Given the description of an element on the screen output the (x, y) to click on. 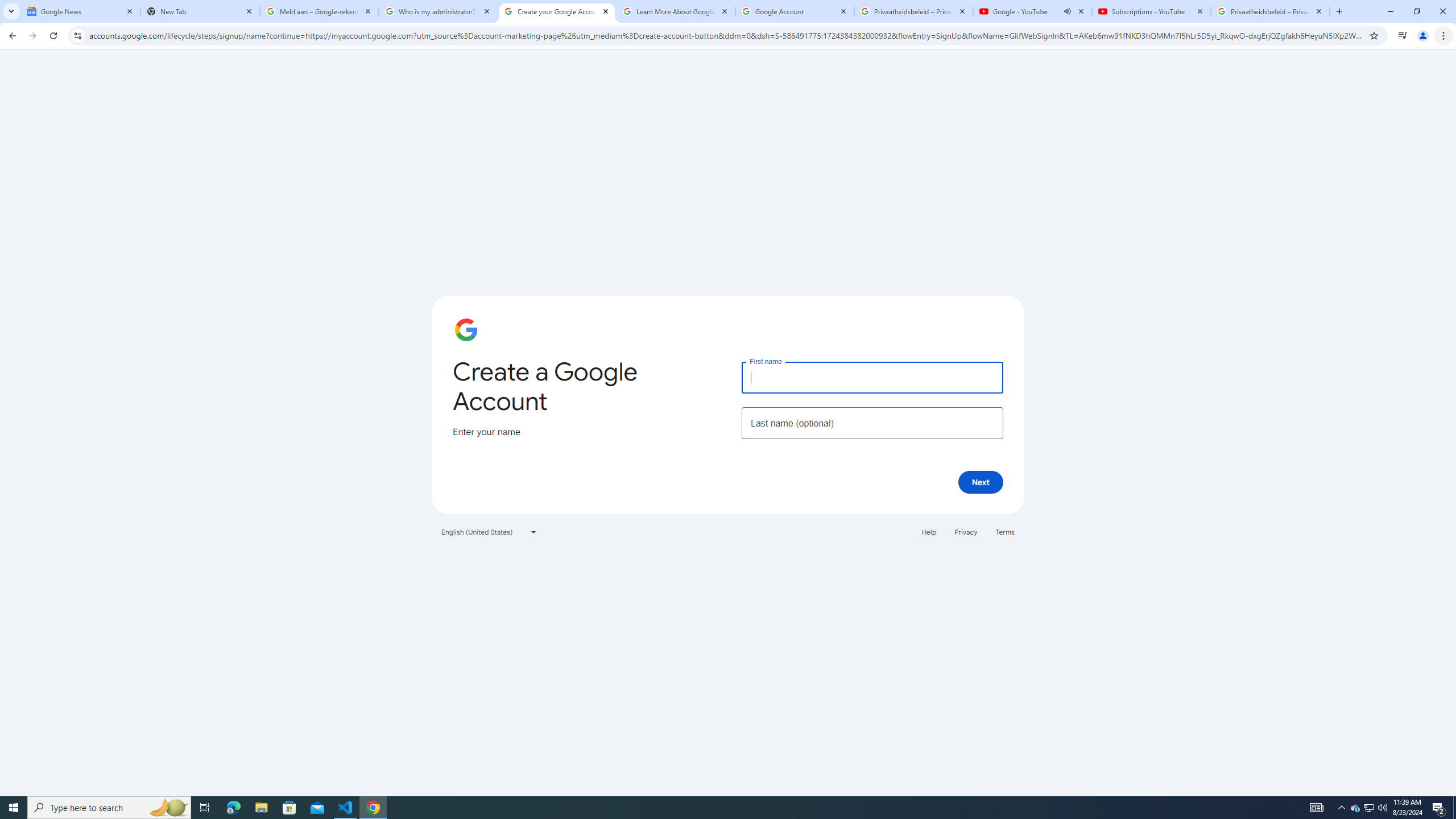
Mute tab (1066, 10)
Help (928, 531)
Subscriptions - YouTube (1150, 11)
Who is my administrator? - Google Account Help (438, 11)
English (United States) (489, 531)
